Given the description of an element on the screen output the (x, y) to click on. 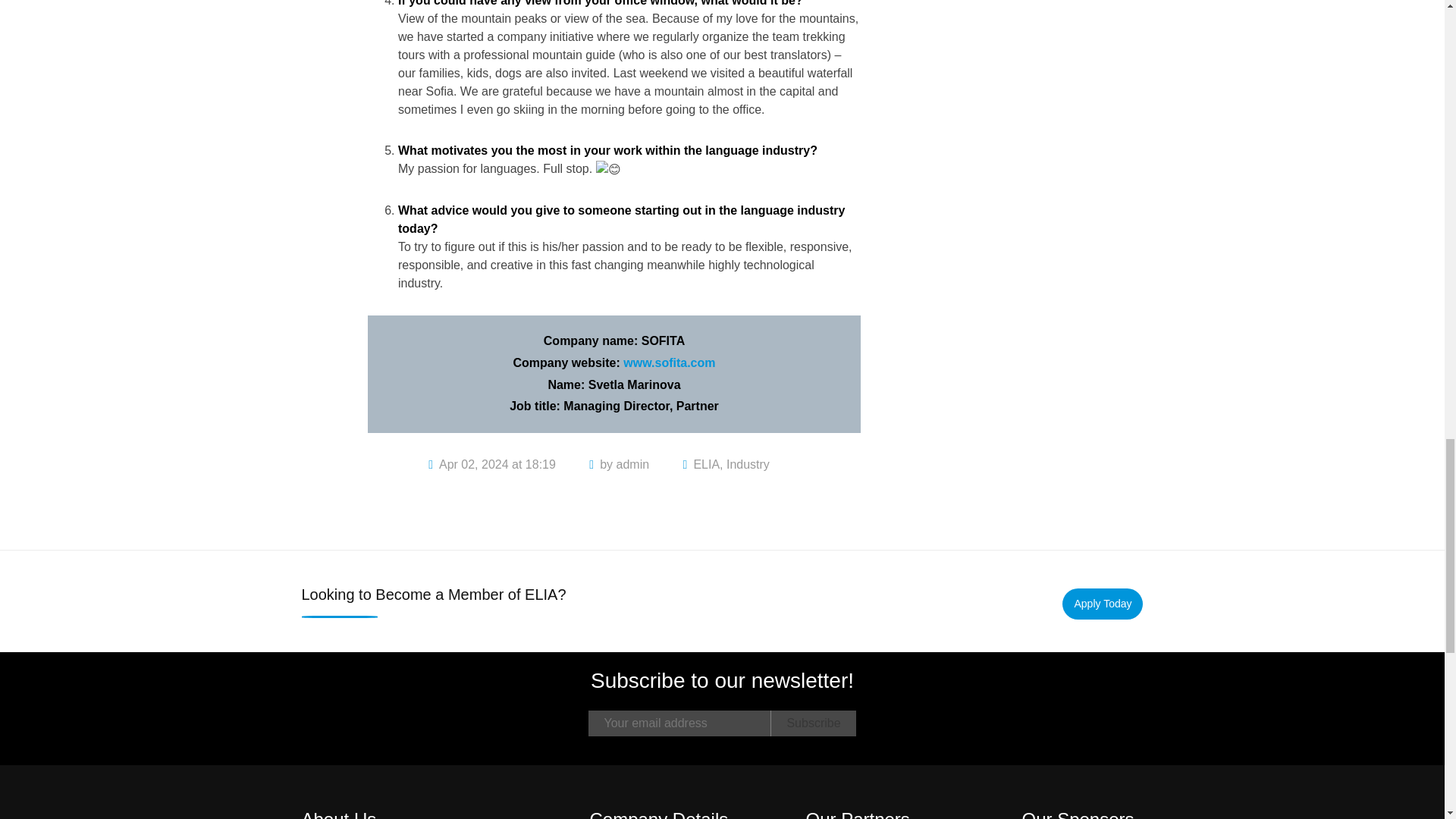
www.sofita.com (668, 362)
Subscribe (813, 723)
